Given the description of an element on the screen output the (x, y) to click on. 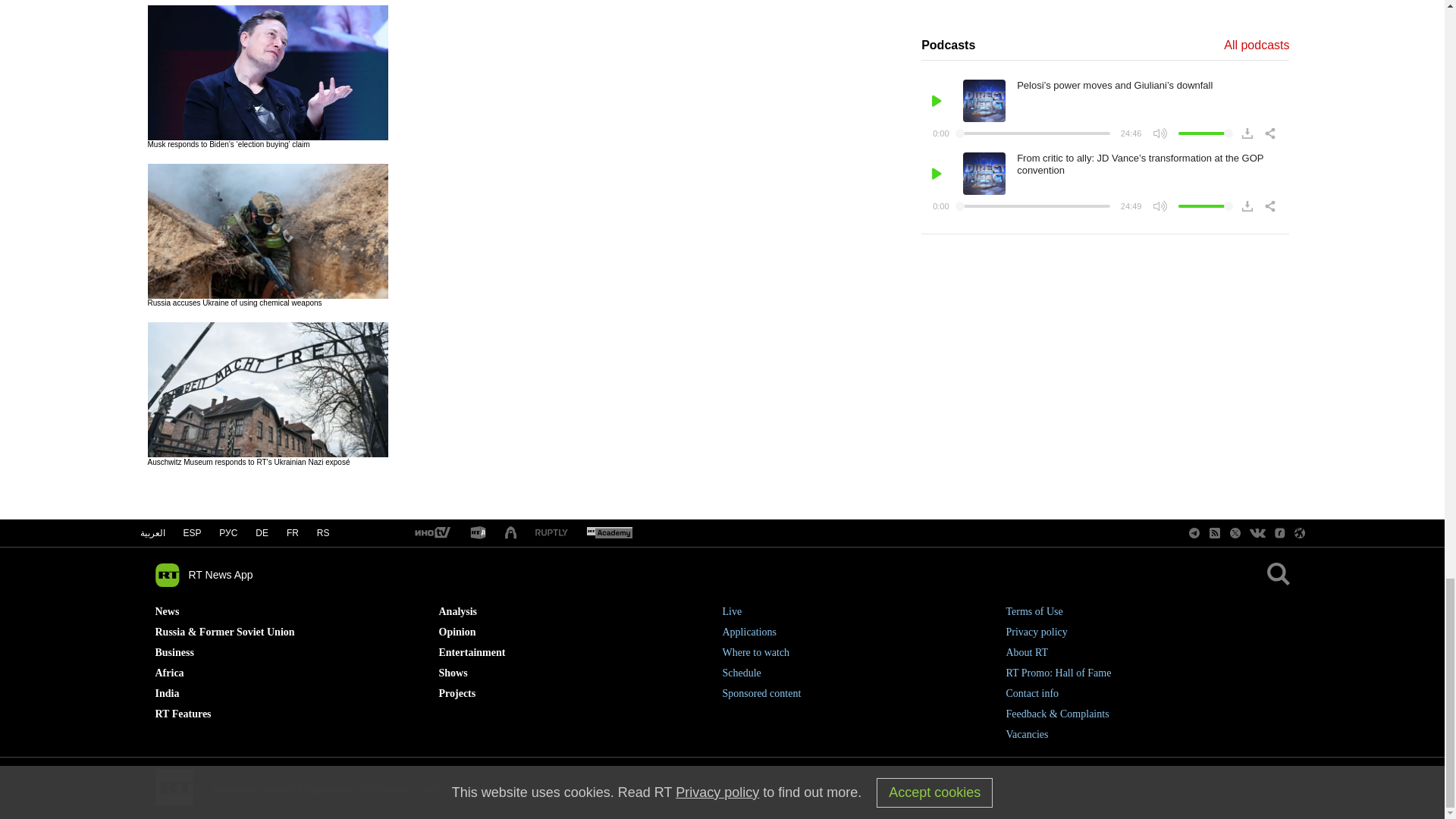
RT  (478, 533)
RT  (431, 533)
RT  (608, 533)
RT  (551, 533)
